Given the description of an element on the screen output the (x, y) to click on. 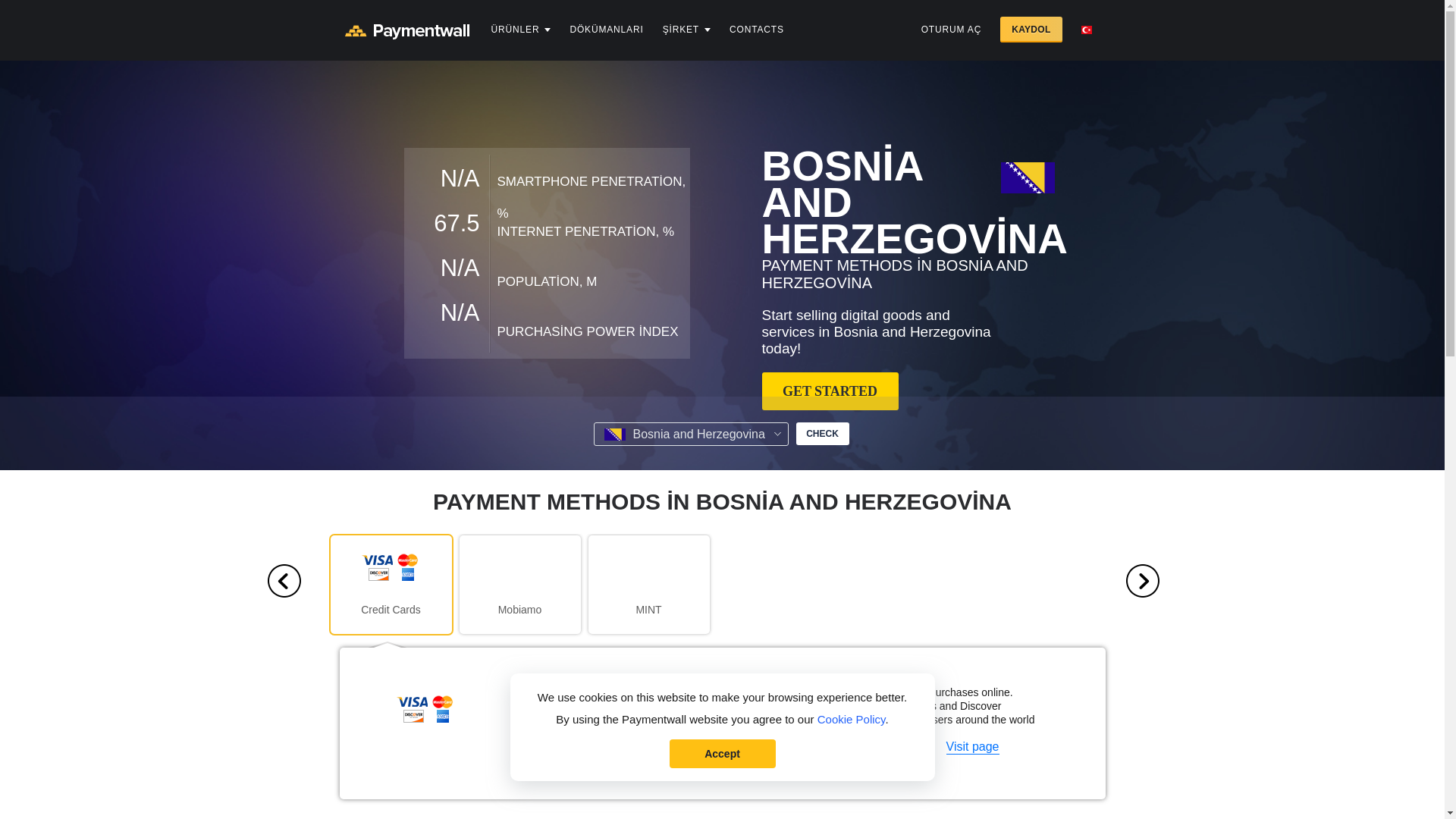
GET STARTED (829, 391)
Visit page (972, 747)
CONTACTS (756, 29)
KAYDOL (1030, 29)
CHECK (822, 433)
